Given the description of an element on the screen output the (x, y) to click on. 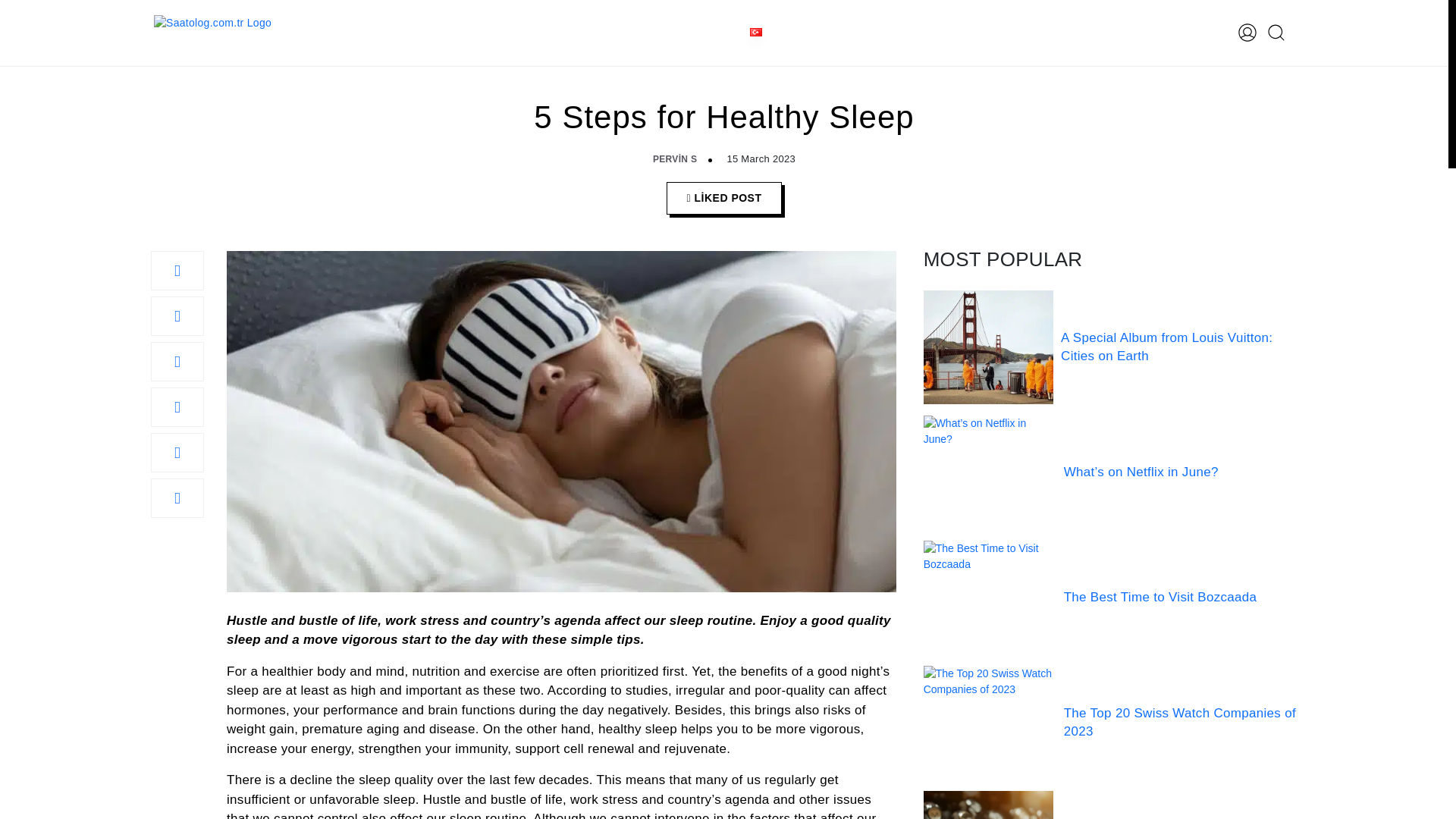
5 Steps for Healthy Sleep (177, 406)
5 Steps for Healthy Sleep (177, 270)
5 Steps for Healthy Sleep (177, 452)
5 Steps for Healthy Sleep (177, 497)
5 Steps for Healthy Sleep (177, 361)
5 Steps for Healthy Sleep (177, 315)
